Given the description of an element on the screen output the (x, y) to click on. 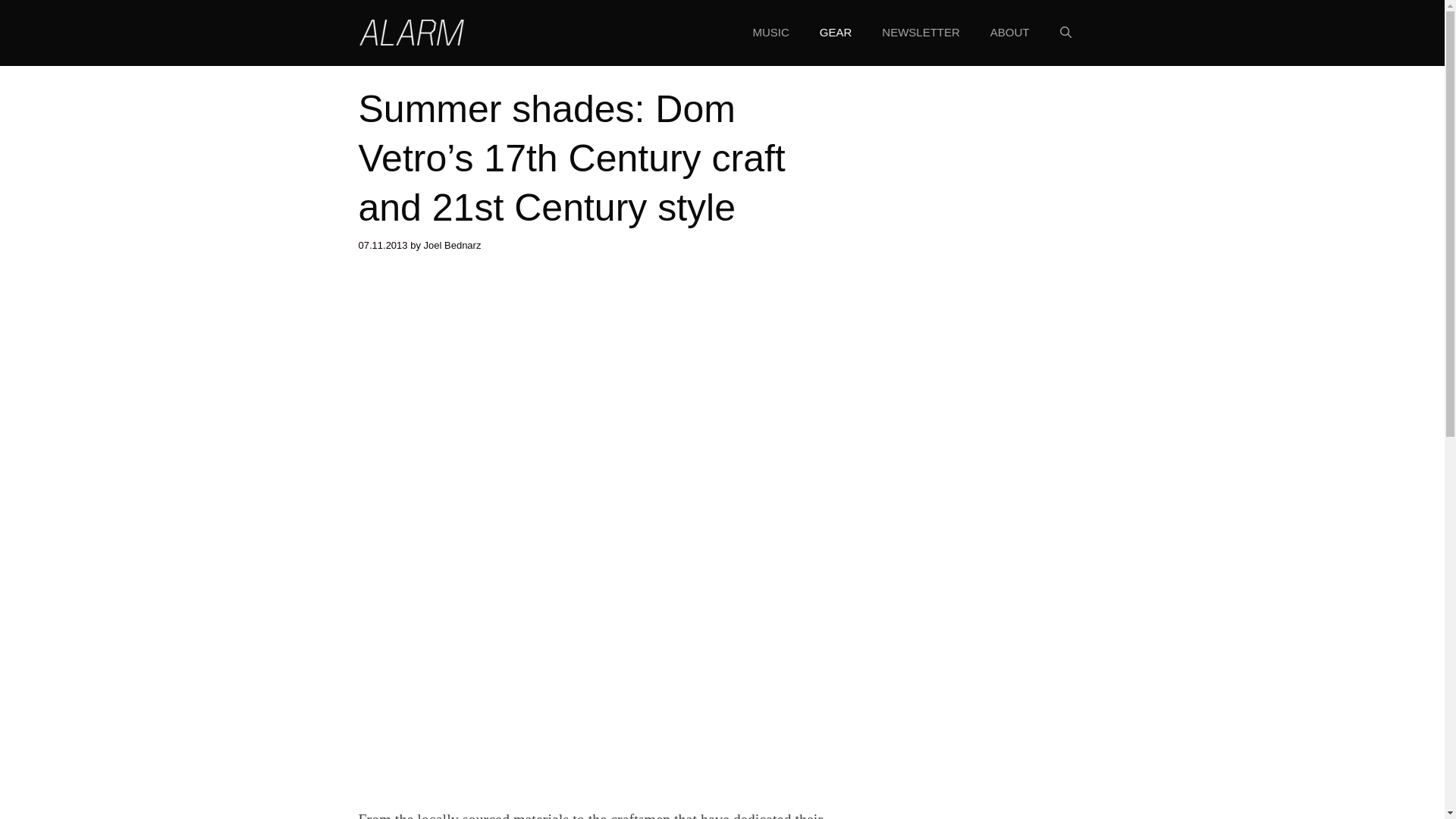
NEWSLETTER (920, 32)
ABOUT (1010, 32)
ALARM (411, 30)
View all posts by Joel Bednarz (452, 244)
Joel Bednarz (452, 244)
MUSIC (769, 32)
ALARM (411, 32)
GEAR (836, 32)
